Given the description of an element on the screen output the (x, y) to click on. 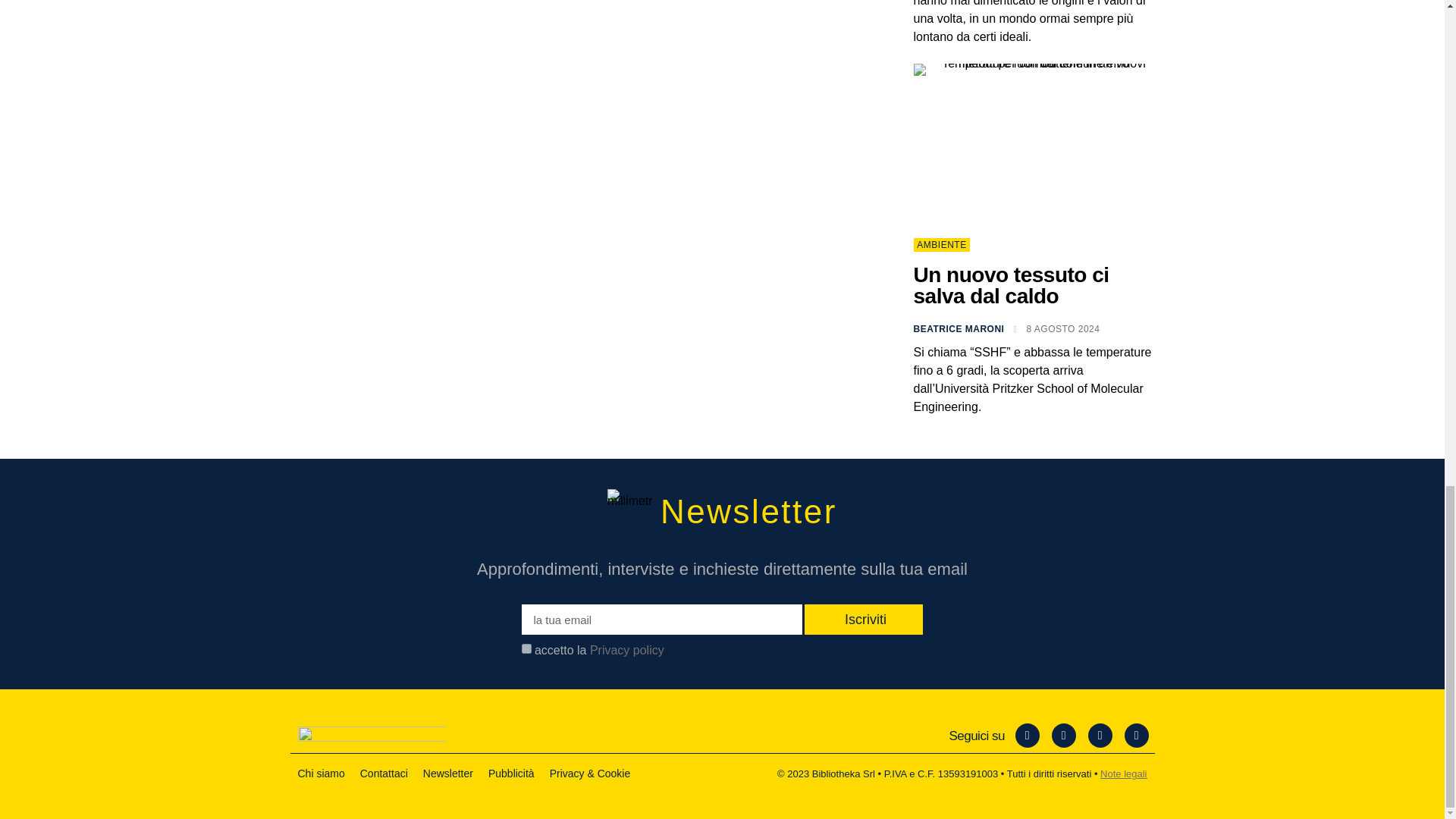
Un nuovo tessuto ci salva dal caldo (1010, 284)
AMBIENTE (940, 245)
8 AGOSTO 2024 (1056, 328)
Privacy policy (626, 649)
Iscriviti (864, 619)
millimetro.jpg (629, 511)
on (526, 648)
BEATRICE MARONI (958, 328)
